Given the description of an element on the screen output the (x, y) to click on. 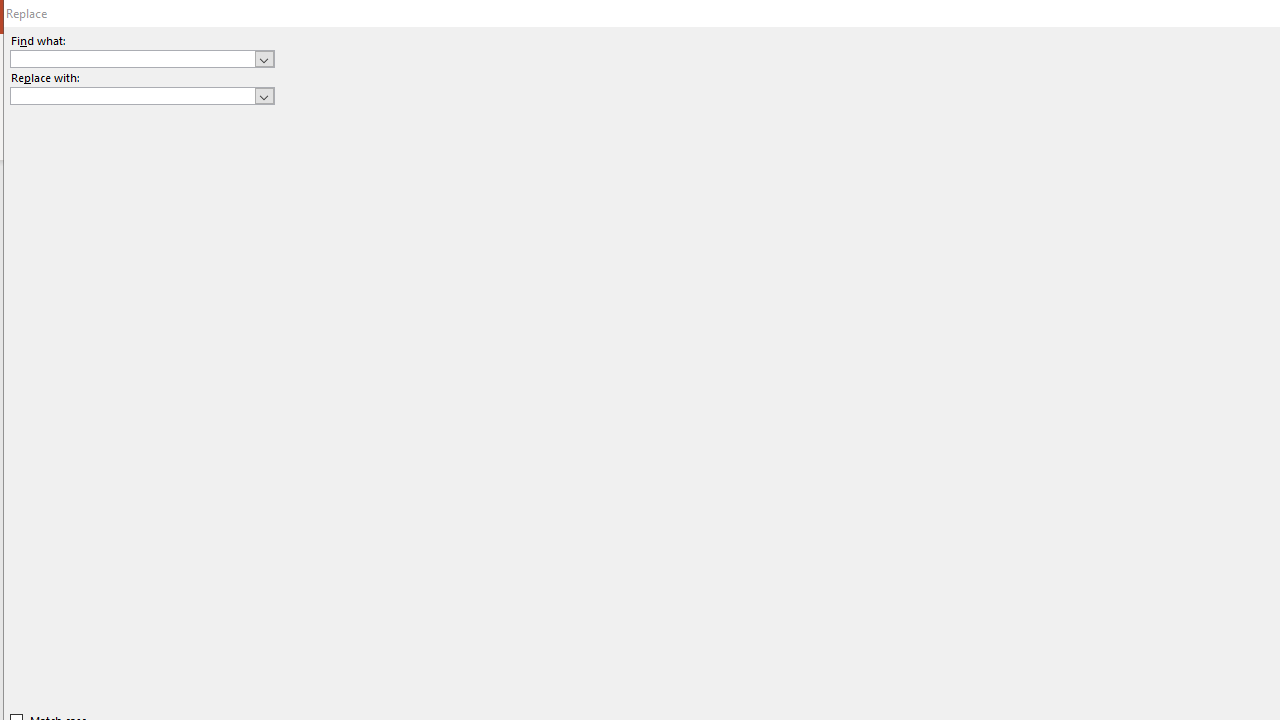
Replace with (142, 96)
